Given the description of an element on the screen output the (x, y) to click on. 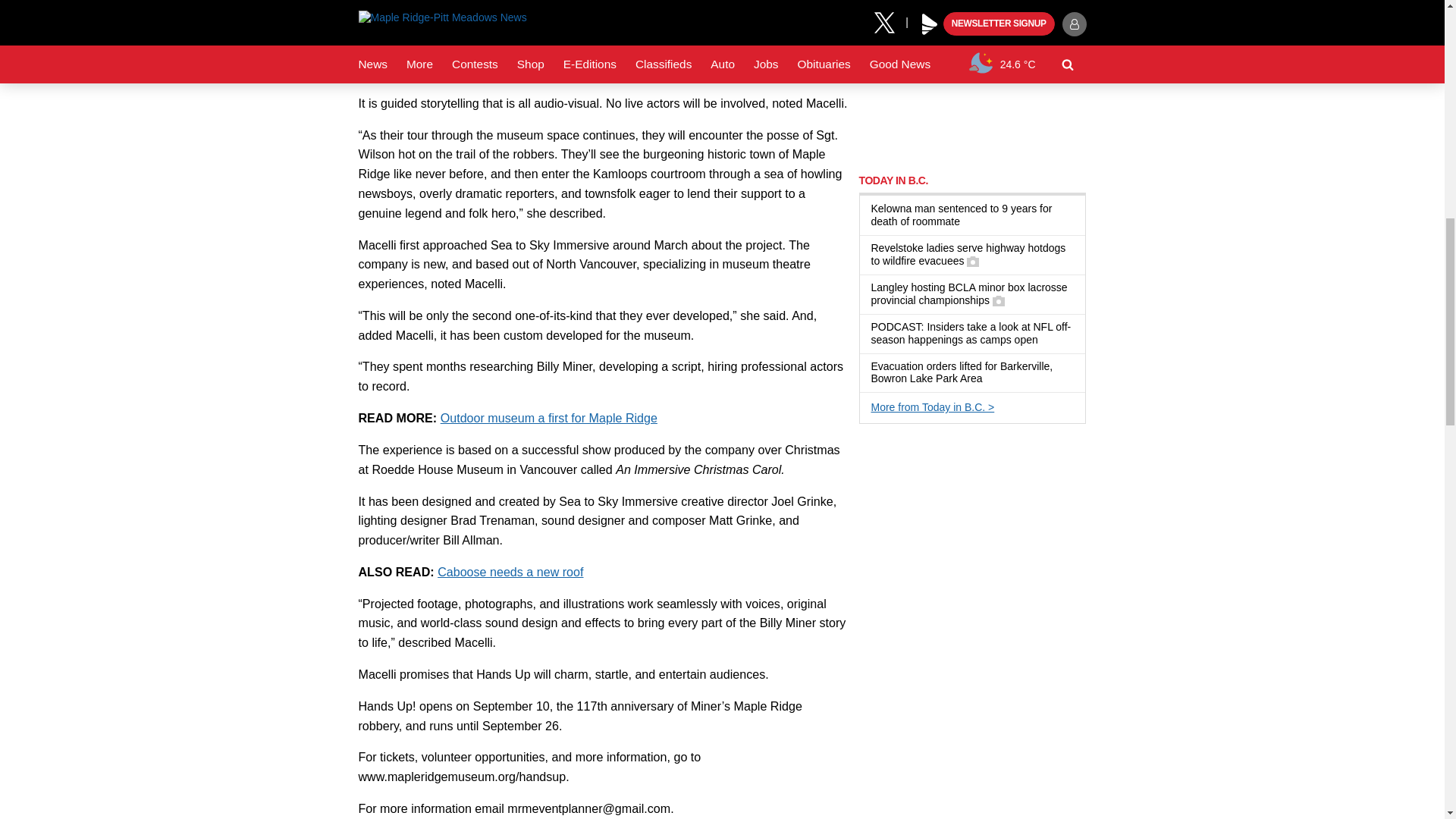
Has a gallery (998, 300)
Has a gallery (972, 261)
